Given the description of an element on the screen output the (x, y) to click on. 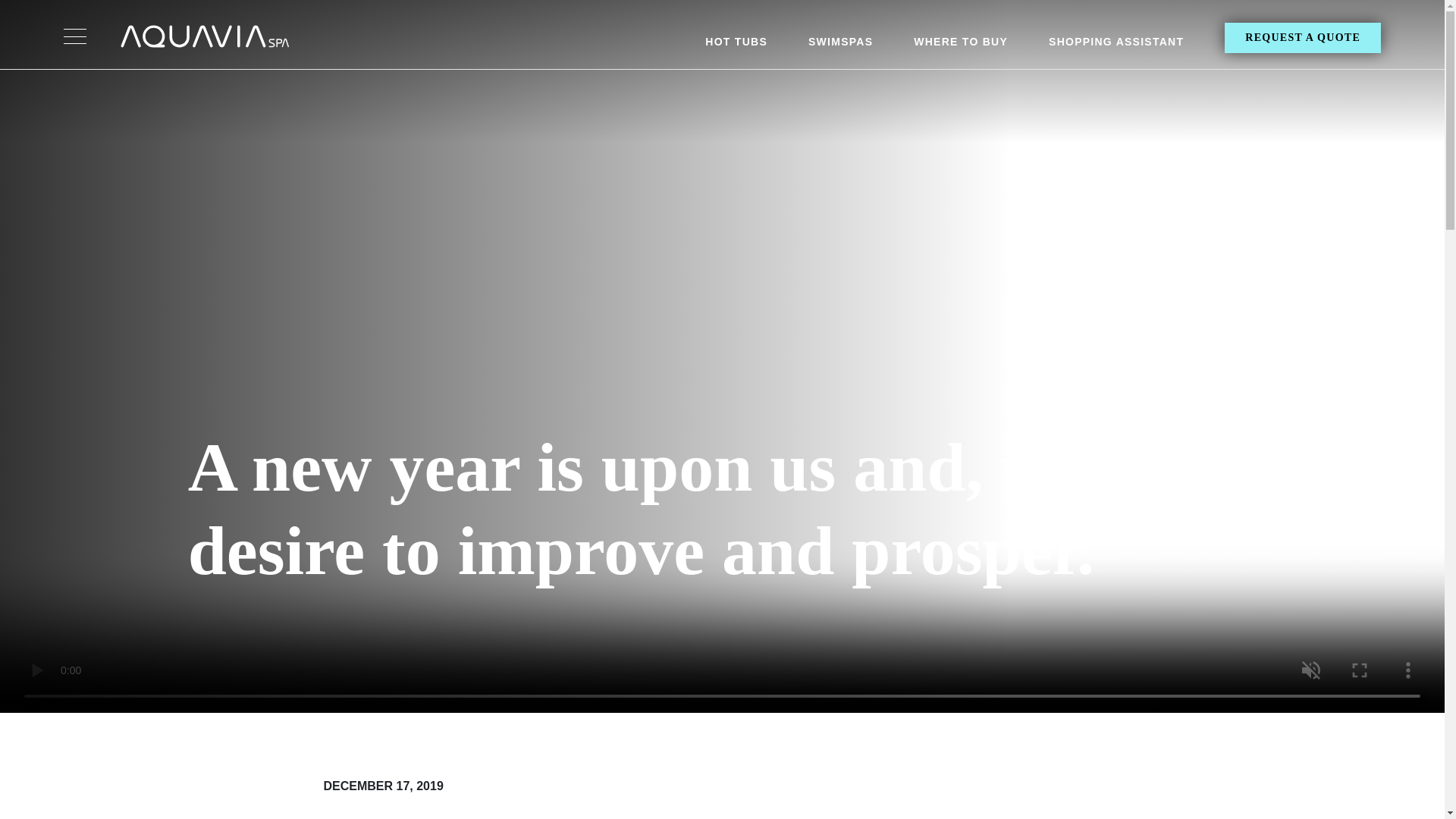
REQUEST A QUOTE (1302, 37)
WHERE TO BUY (960, 45)
HOT TUBS (735, 45)
SWIMSPAS (840, 45)
SHOPPING ASSISTANT (1115, 45)
